Given the description of an element on the screen output the (x, y) to click on. 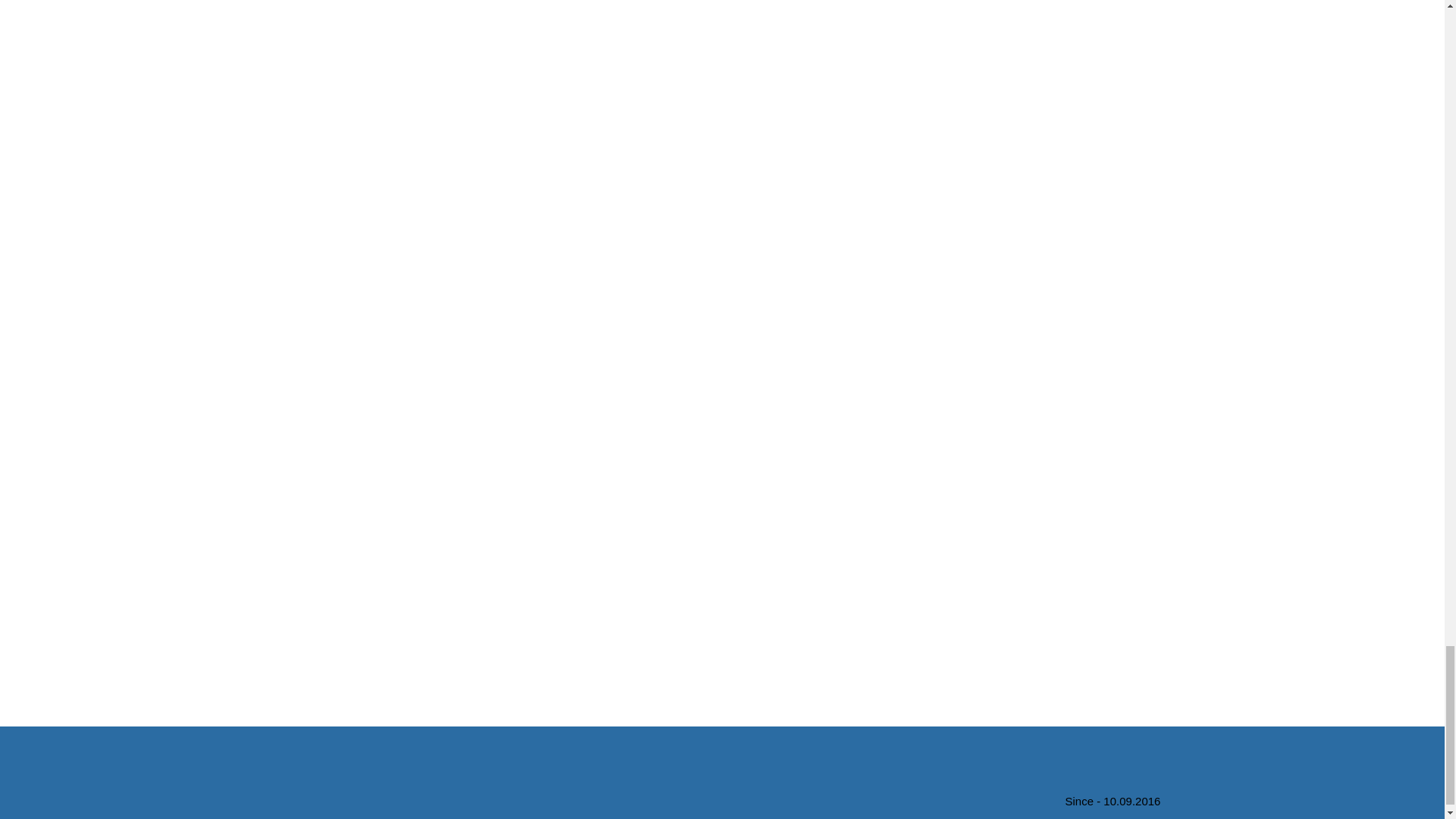
Curtir do Facebook (473, 775)
